Given the description of an element on the screen output the (x, y) to click on. 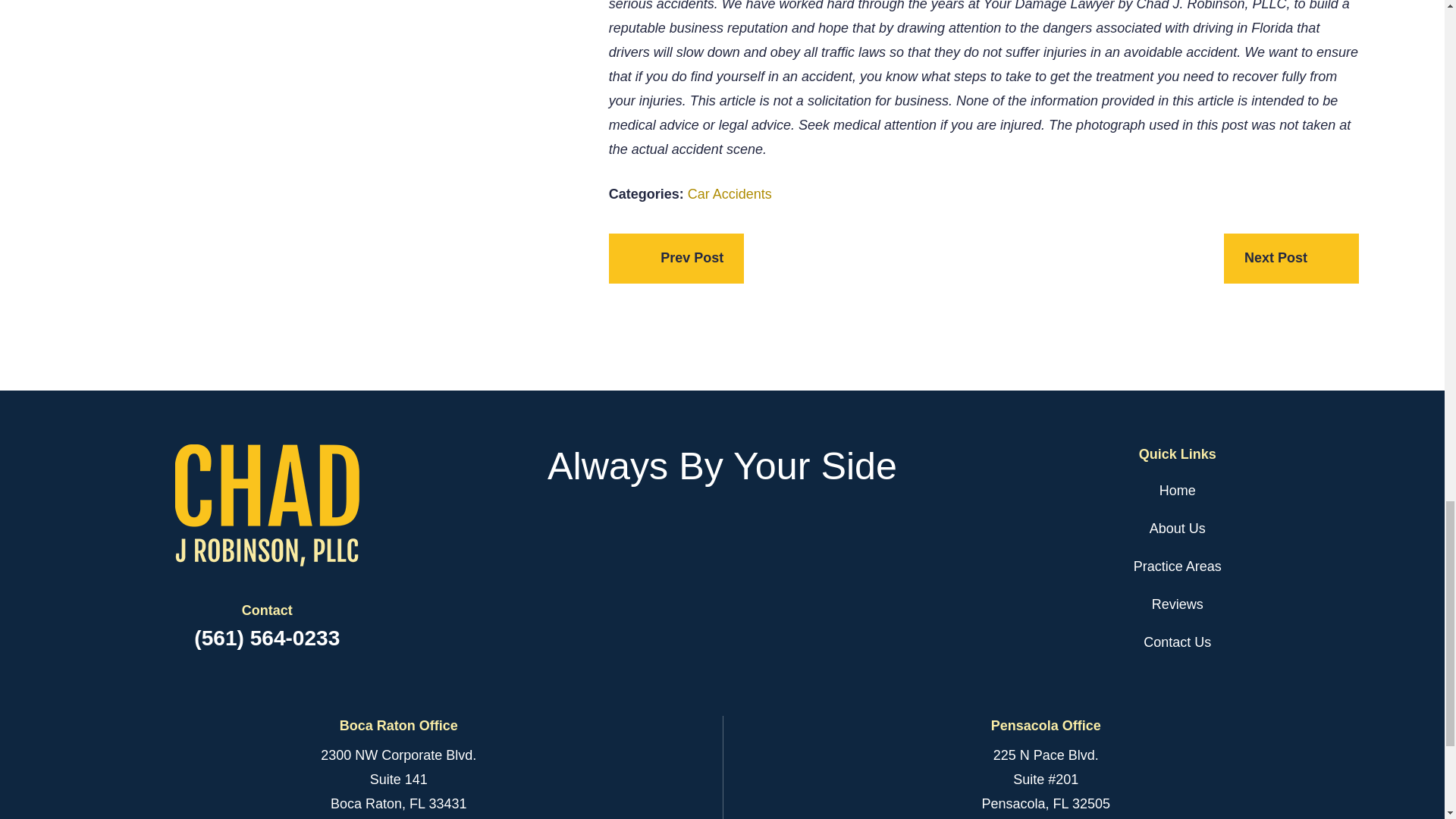
Home (266, 505)
Facebook (682, 531)
LinkedIn (722, 531)
Google Business Profile (761, 531)
